Given the description of an element on the screen output the (x, y) to click on. 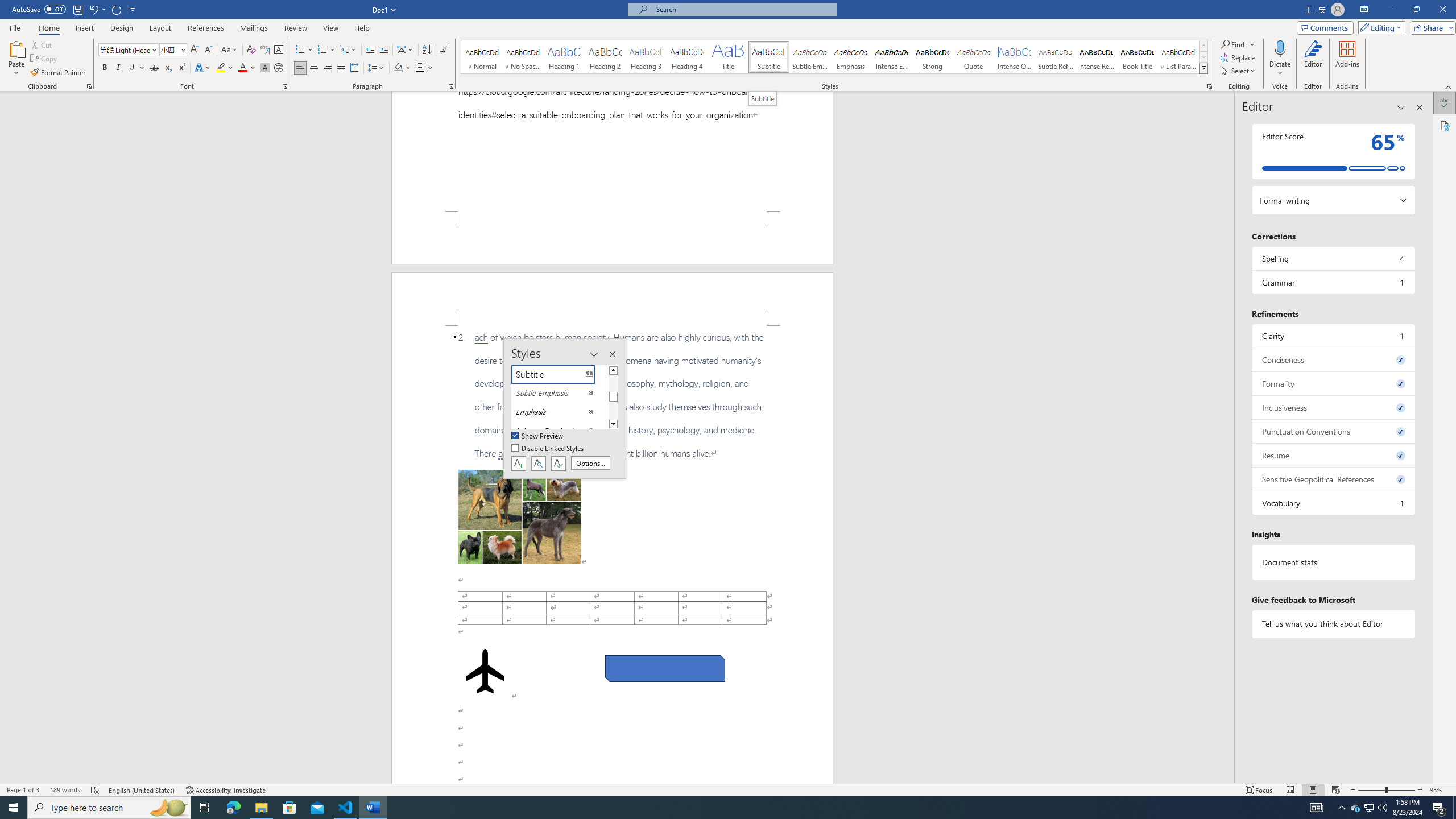
Intense Reference (1095, 56)
Row Down (1203, 56)
Repeat Style (117, 9)
Editor (1444, 102)
Justify (340, 67)
Character Border (278, 49)
Phonetic Guide... (264, 49)
Underline (136, 67)
Minimize (1390, 9)
Zoom Out (1371, 790)
Editing (1379, 27)
